Given the description of an element on the screen output the (x, y) to click on. 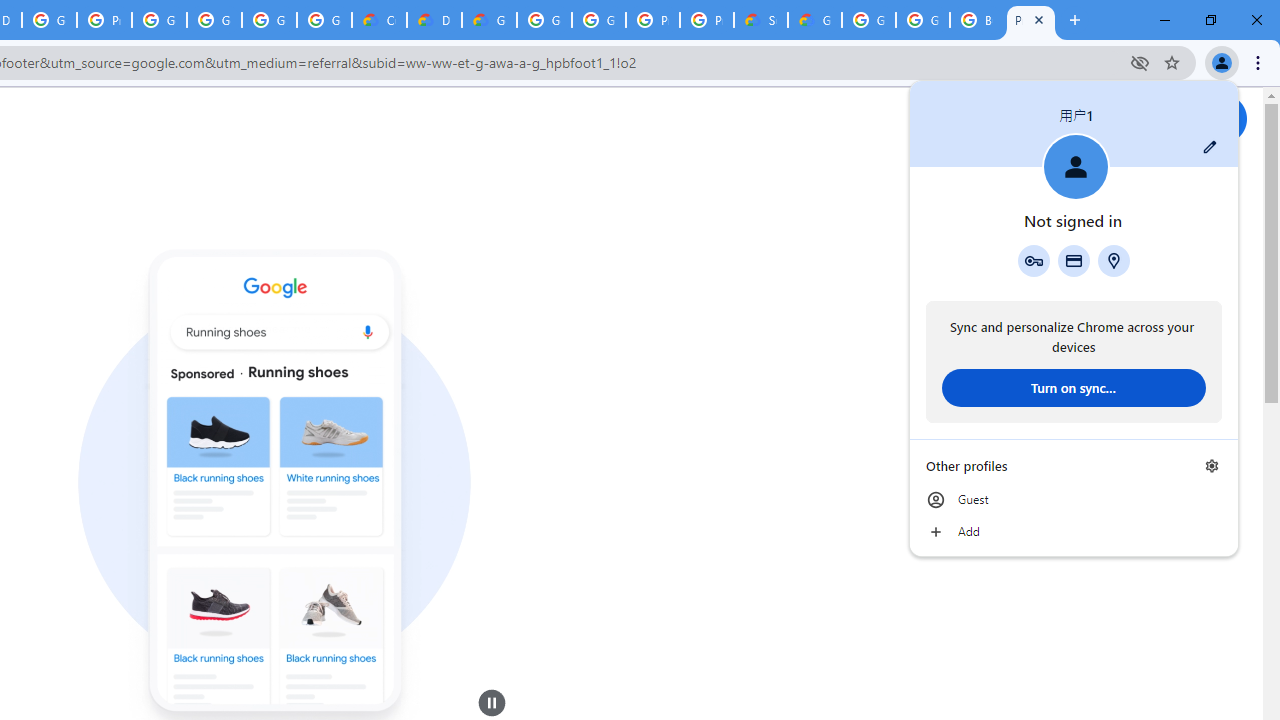
Customize profile (1210, 147)
